Given the description of an element on the screen output the (x, y) to click on. 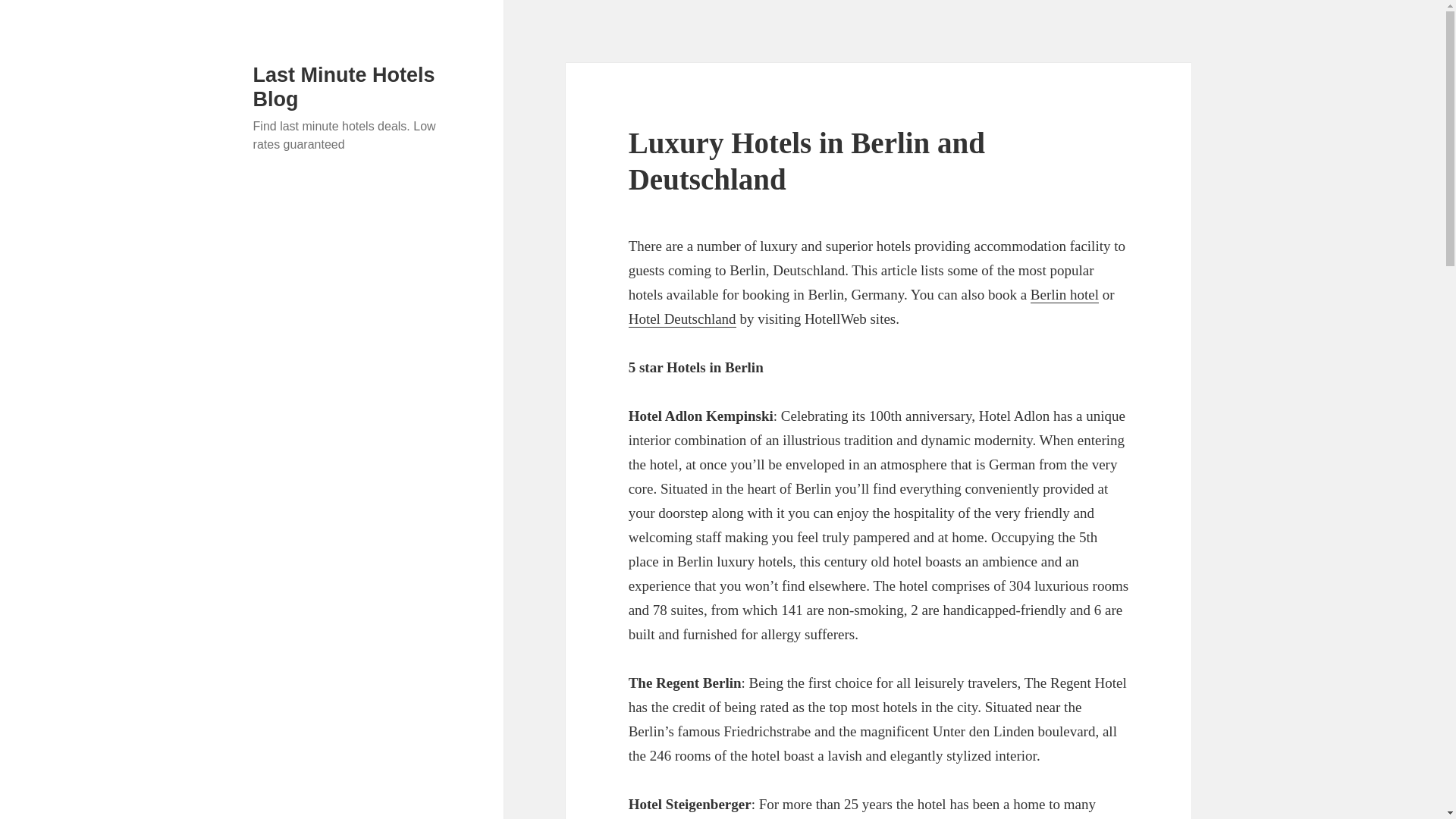
Last Minute Hotels Blog (344, 86)
Berlin hotel (1064, 294)
Hotel Deutschland (682, 319)
